Given the description of an element on the screen output the (x, y) to click on. 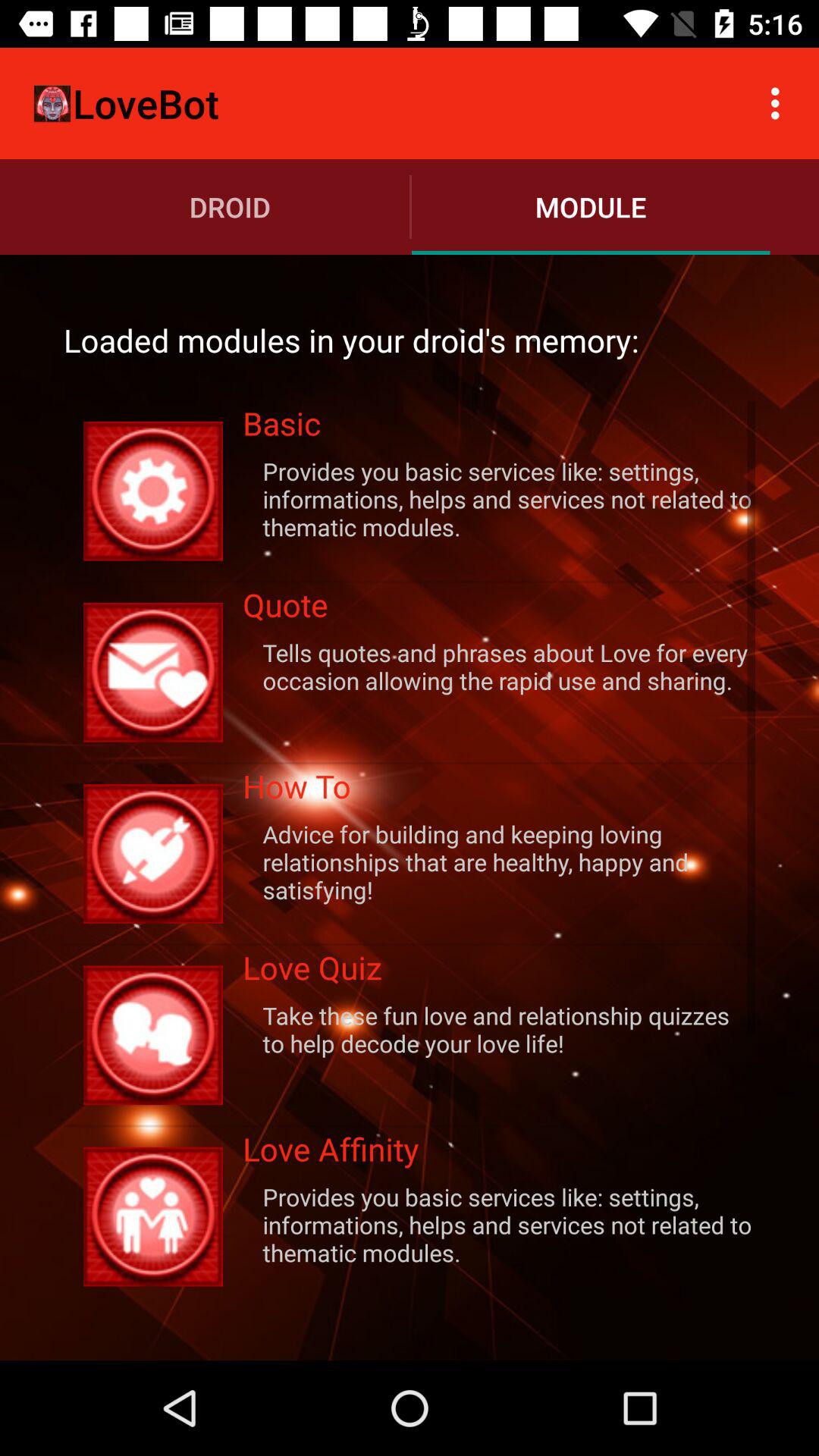
swipe until quote (498, 609)
